Given the description of an element on the screen output the (x, y) to click on. 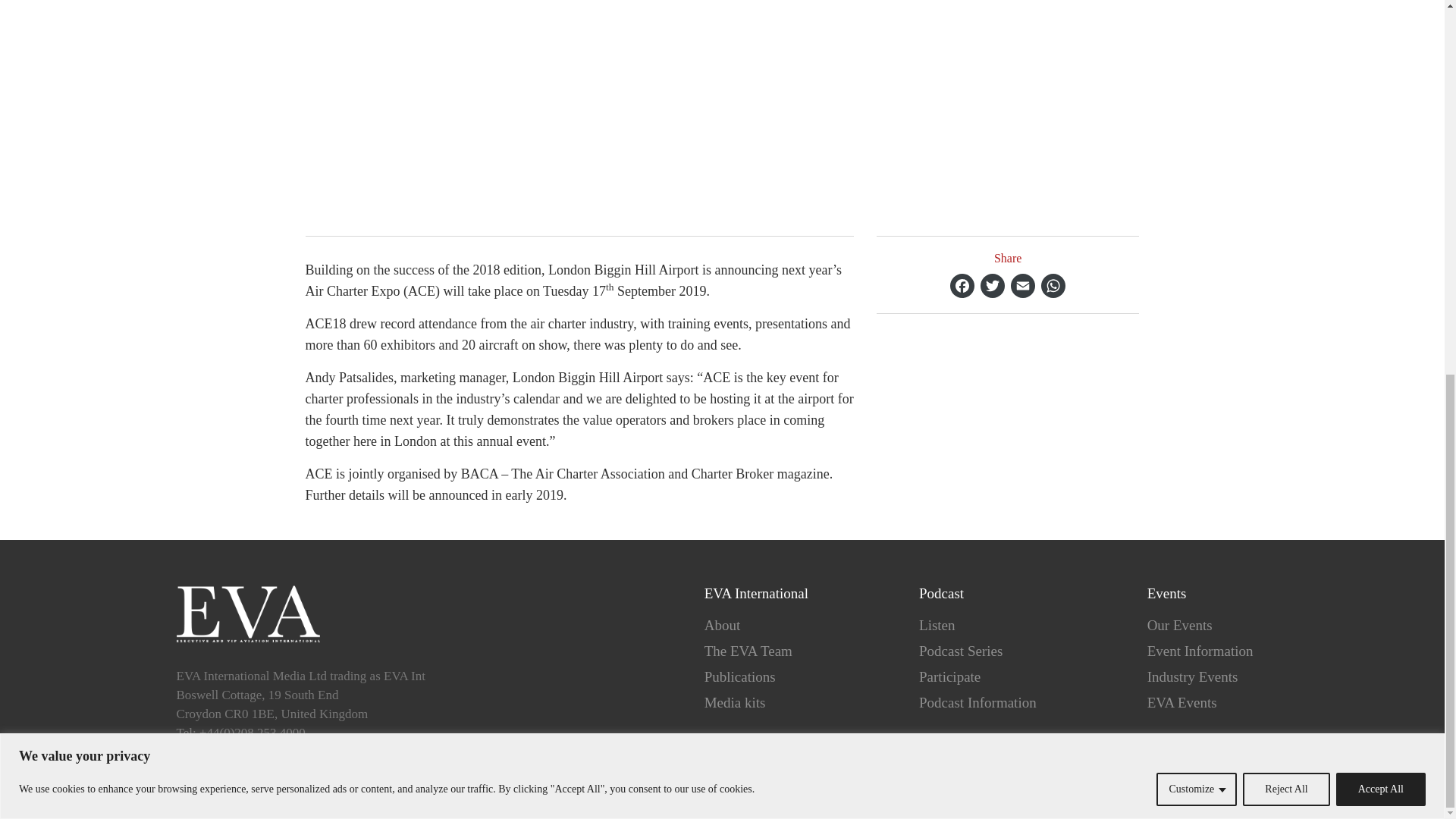
Customize (1196, 101)
Accept All (1380, 101)
Facebook (961, 285)
WhatsApp (1053, 285)
Email (1022, 285)
Twitter (991, 285)
Reject All (1286, 101)
